Given the description of an element on the screen output the (x, y) to click on. 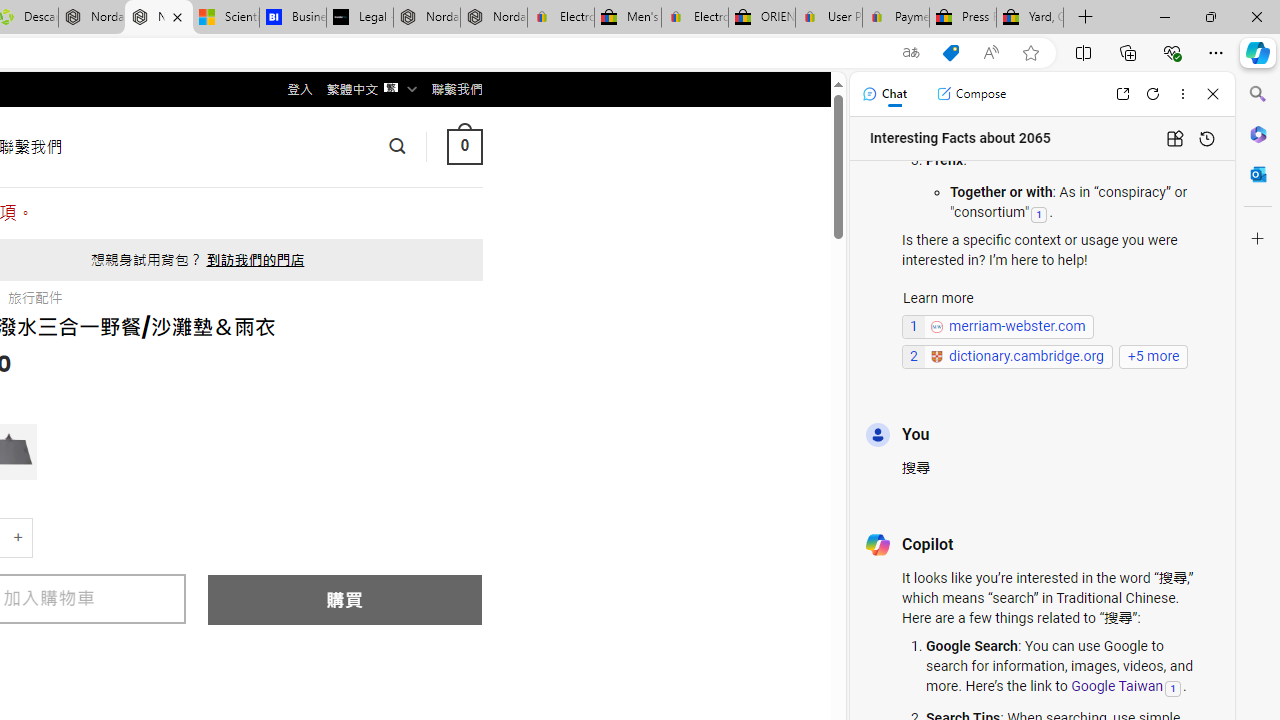
 0  (464, 146)
Show translate options (910, 53)
Yard, Garden & Outdoor Living (1030, 17)
